Given the description of an element on the screen output the (x, y) to click on. 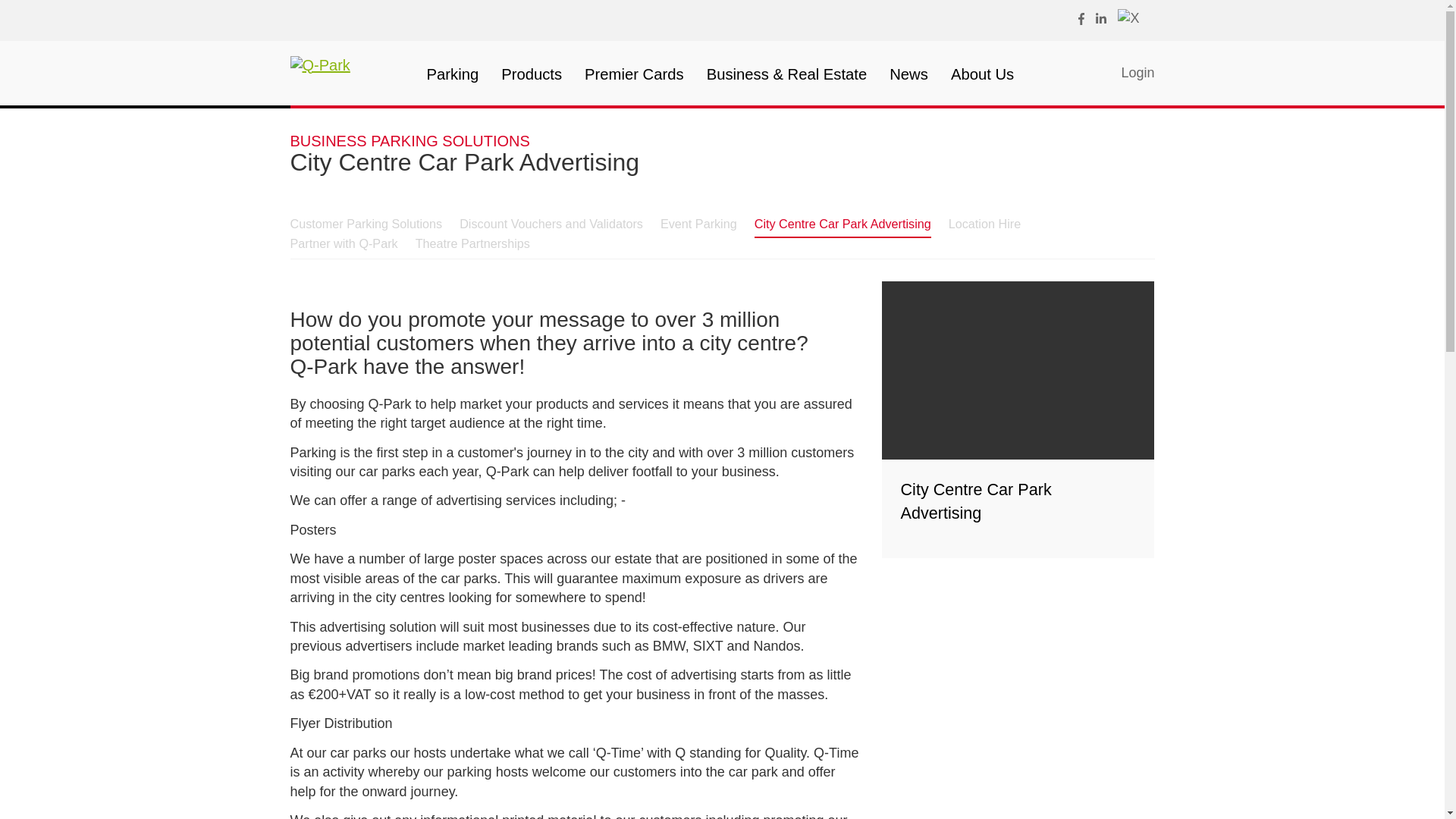
Premier Cards (634, 74)
Location Hire (984, 223)
Partner with Q-Park (343, 243)
Premier Cards (634, 74)
Theatre Partnerships (471, 243)
Event Parking (698, 223)
Parking (452, 74)
Login (1126, 73)
Discount Vouchers and Validators (551, 223)
Products (531, 74)
News (908, 74)
City Centre Car Park Advertising (1017, 419)
News (908, 74)
City Centre Car Park Advertising (842, 224)
Customer Parking Solutions (365, 223)
